Given the description of an element on the screen output the (x, y) to click on. 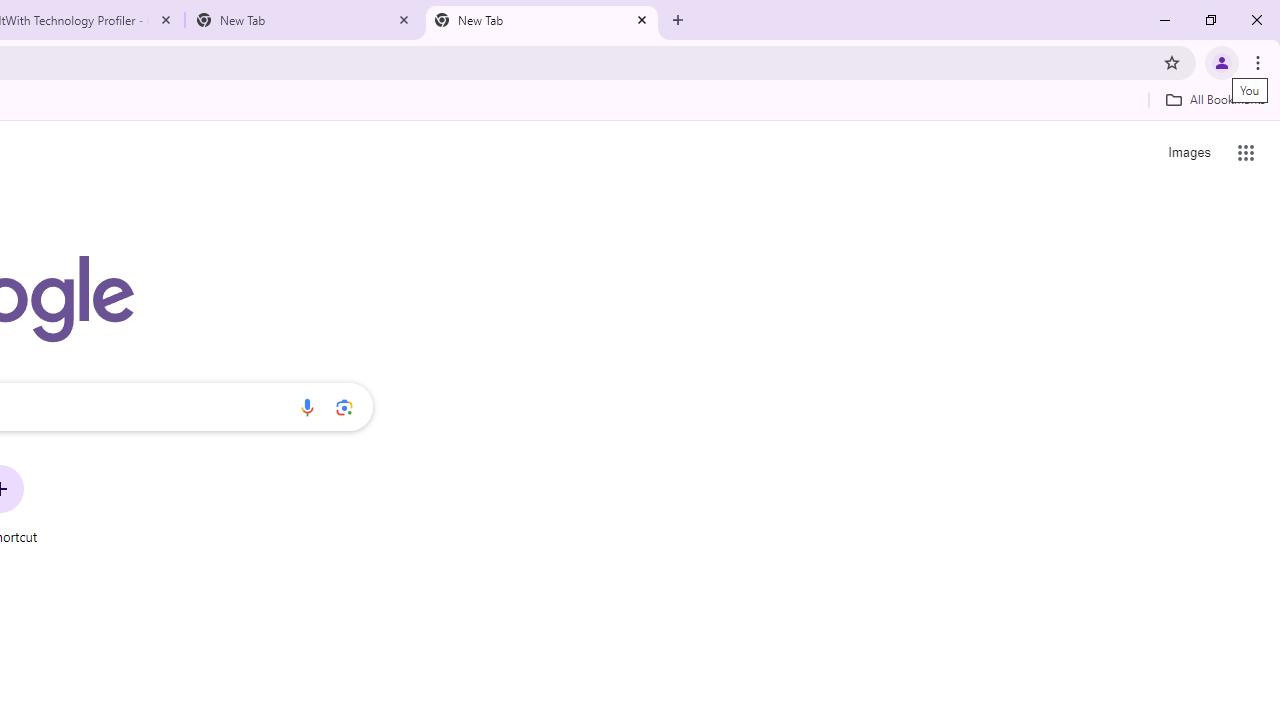
New Tab (304, 20)
New Tab (541, 20)
